Given the description of an element on the screen output the (x, y) to click on. 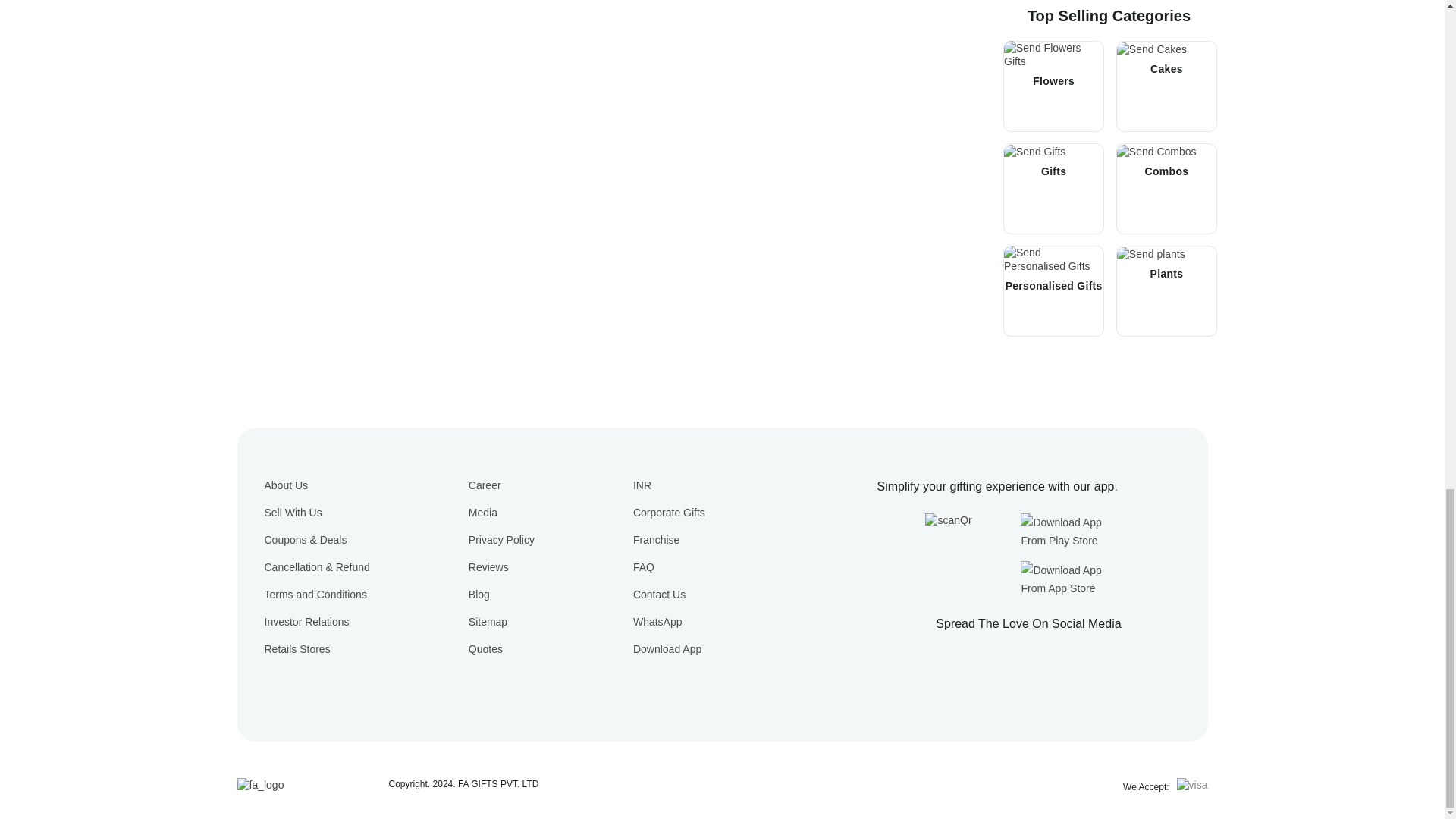
Send Gifts (1034, 151)
Send Personalised Gifts (1053, 258)
Send Flowers Gifts (1053, 53)
Send Cakes (1151, 49)
Send Combos (1156, 151)
Send plants (1150, 254)
